Given the description of an element on the screen output the (x, y) to click on. 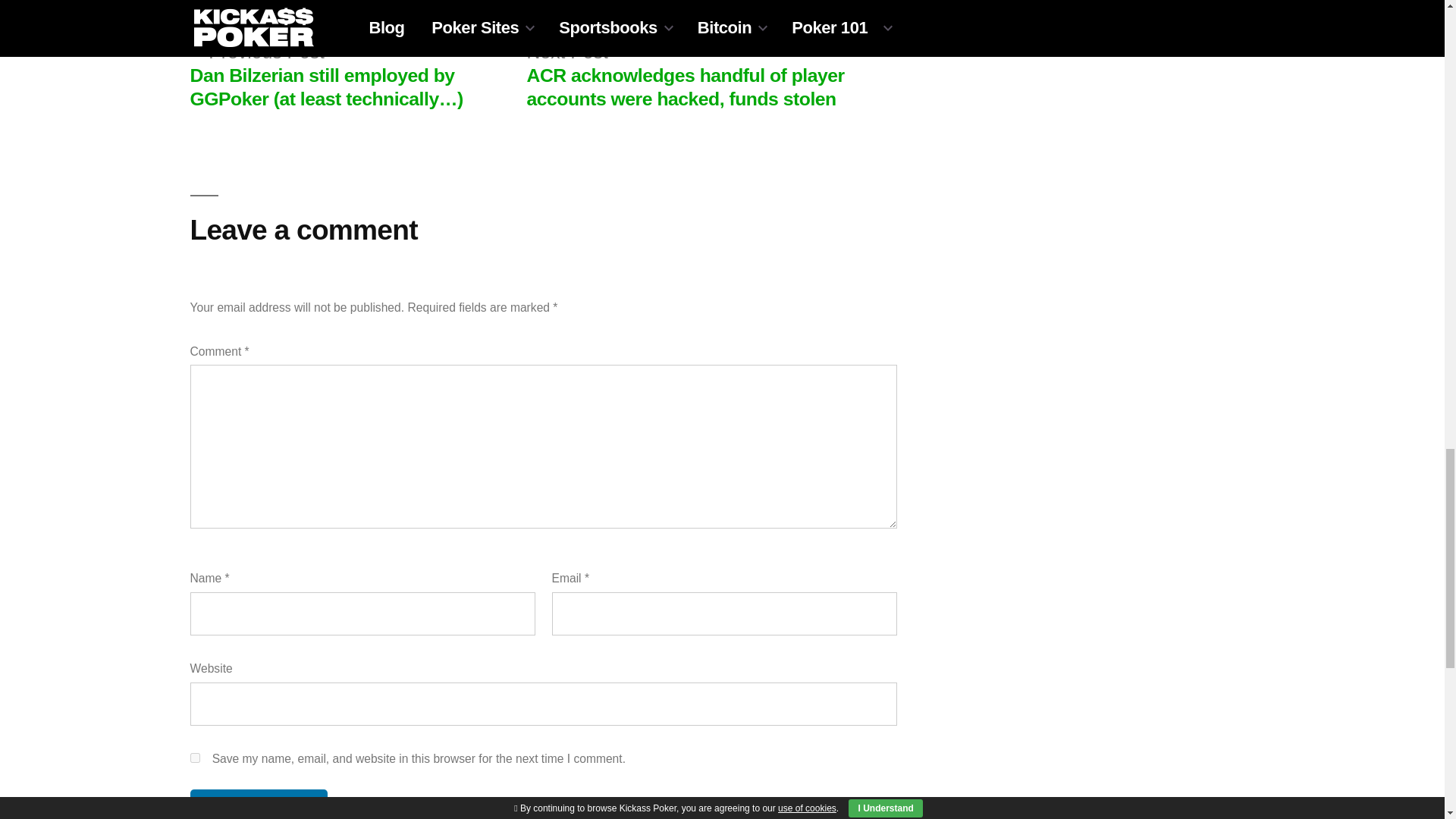
yes (194, 757)
Post Comment (258, 804)
